Given the description of an element on the screen output the (x, y) to click on. 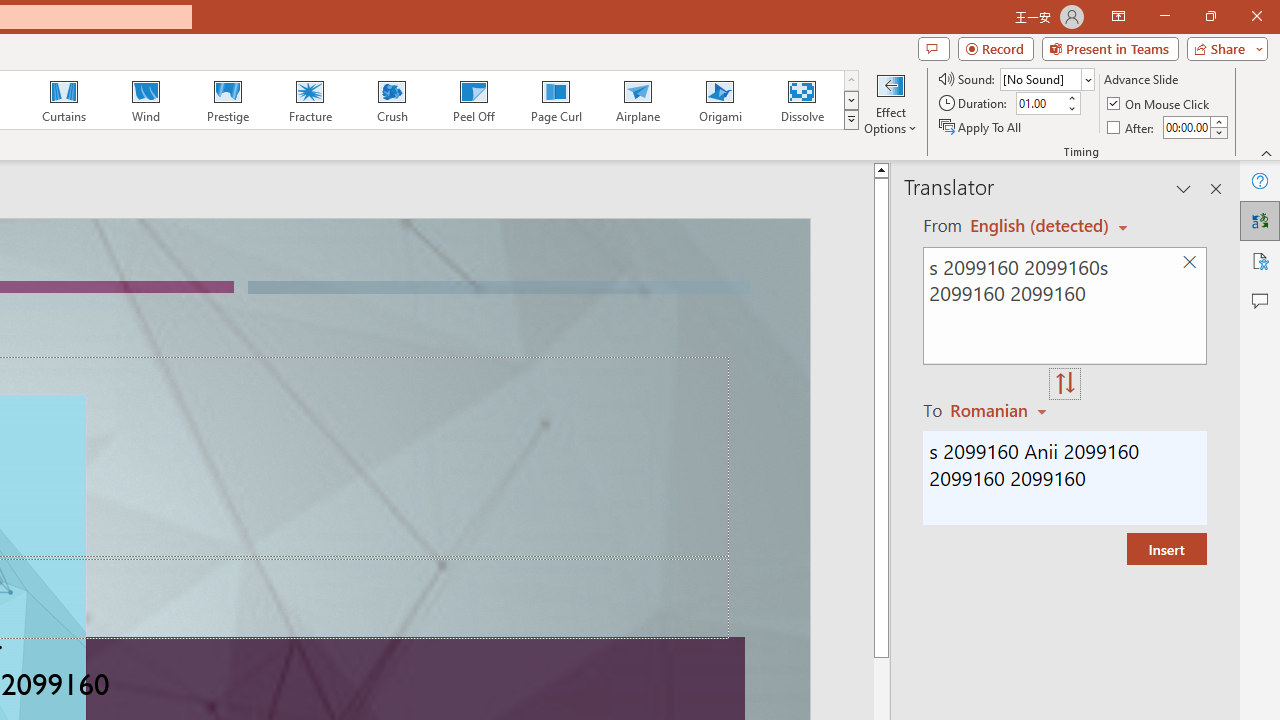
Peel Off (473, 100)
Effect Options (890, 102)
On Mouse Click (1159, 103)
After (1131, 126)
Clear text (1189, 262)
Czech (detected) (1039, 225)
